Given the description of an element on the screen output the (x, y) to click on. 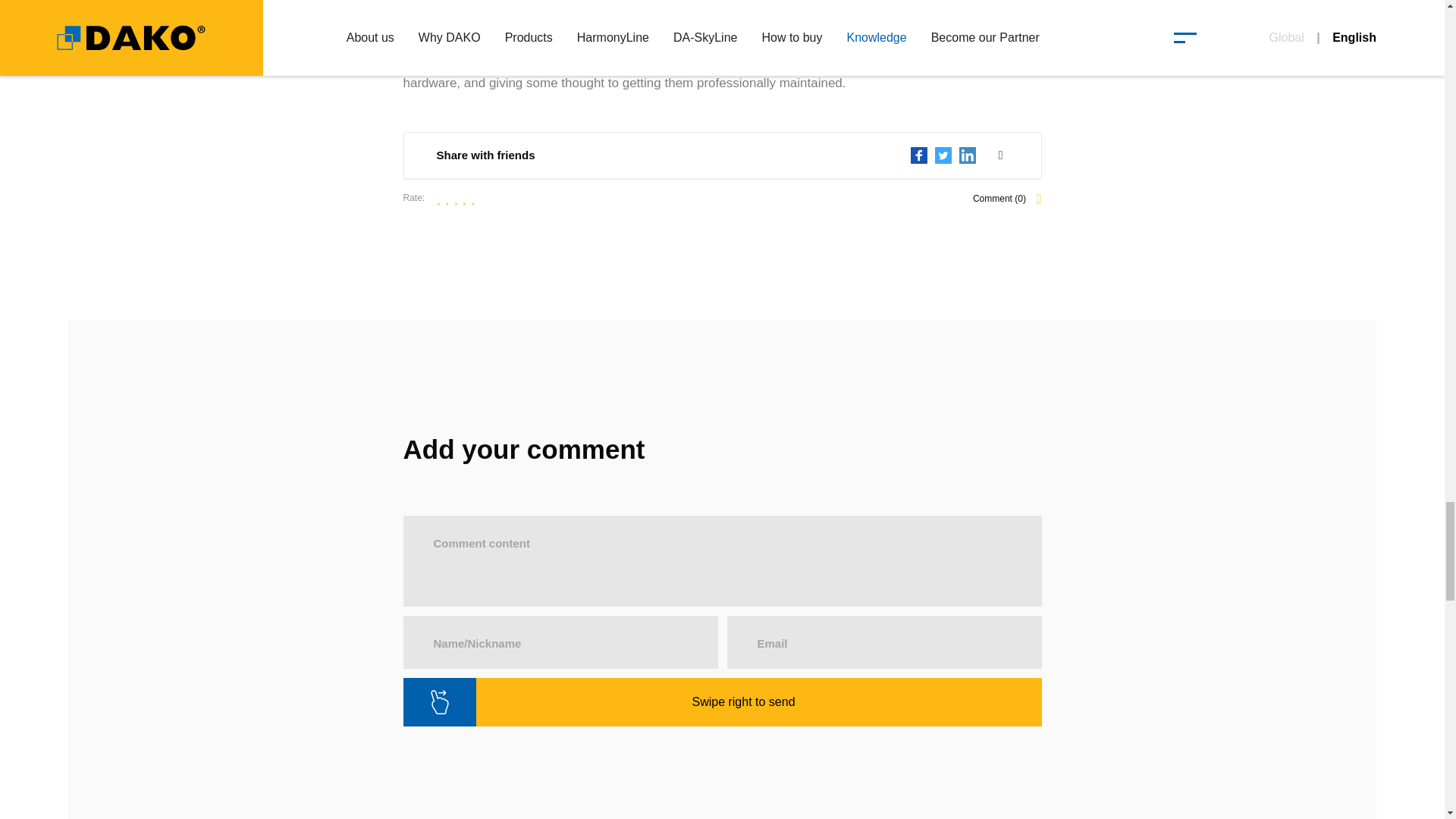
bad (438, 197)
poor (447, 197)
gorgeous (473, 197)
regular (455, 197)
good (463, 197)
